Given the description of an element on the screen output the (x, y) to click on. 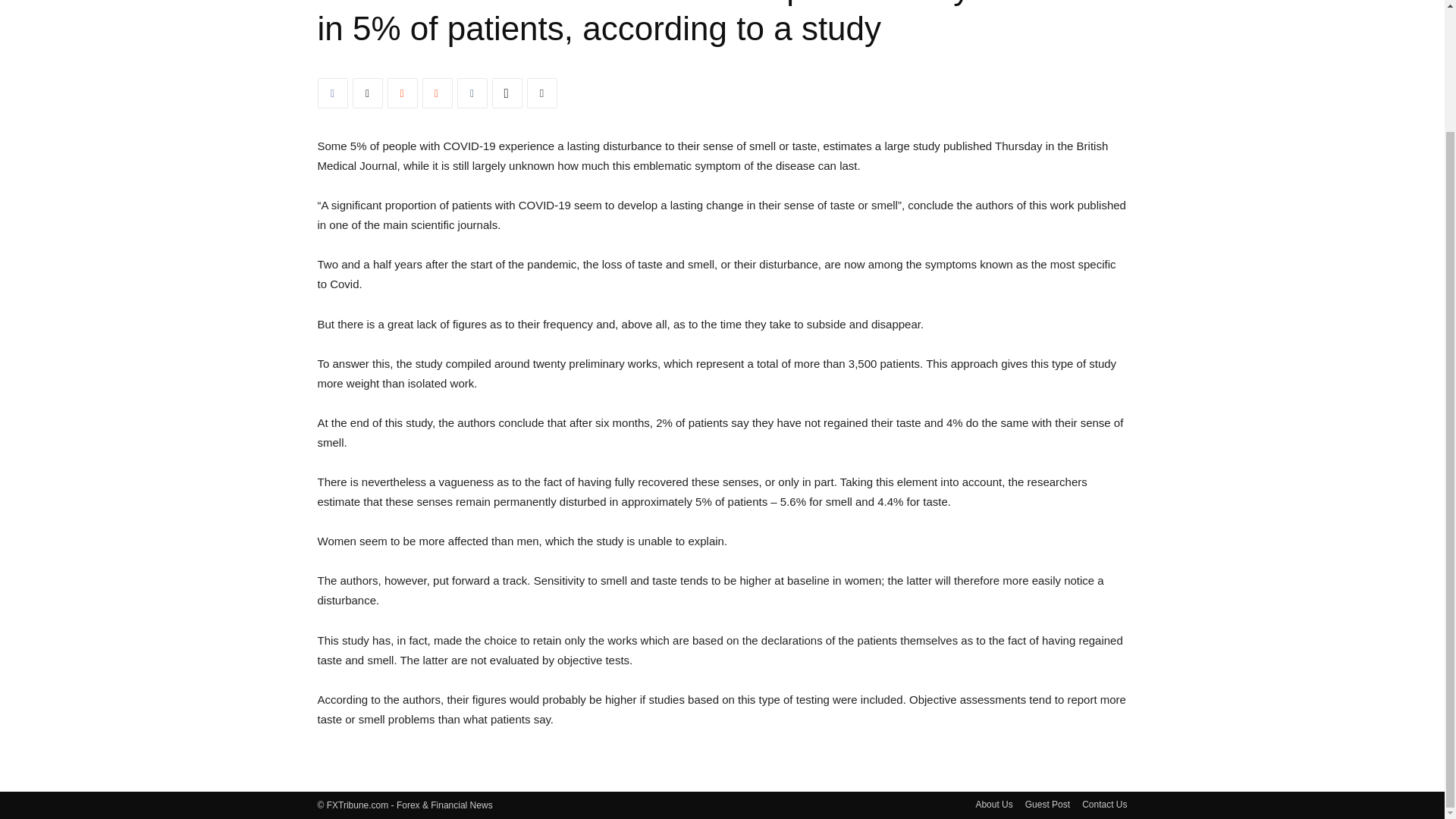
Digg (506, 92)
Facebook (332, 92)
Mix (436, 92)
Twitter (366, 92)
About Us (993, 804)
Contact Us (1103, 804)
ReddIt (401, 92)
Tumblr (471, 92)
Print (540, 92)
Guest Post (1047, 804)
